Given the description of an element on the screen output the (x, y) to click on. 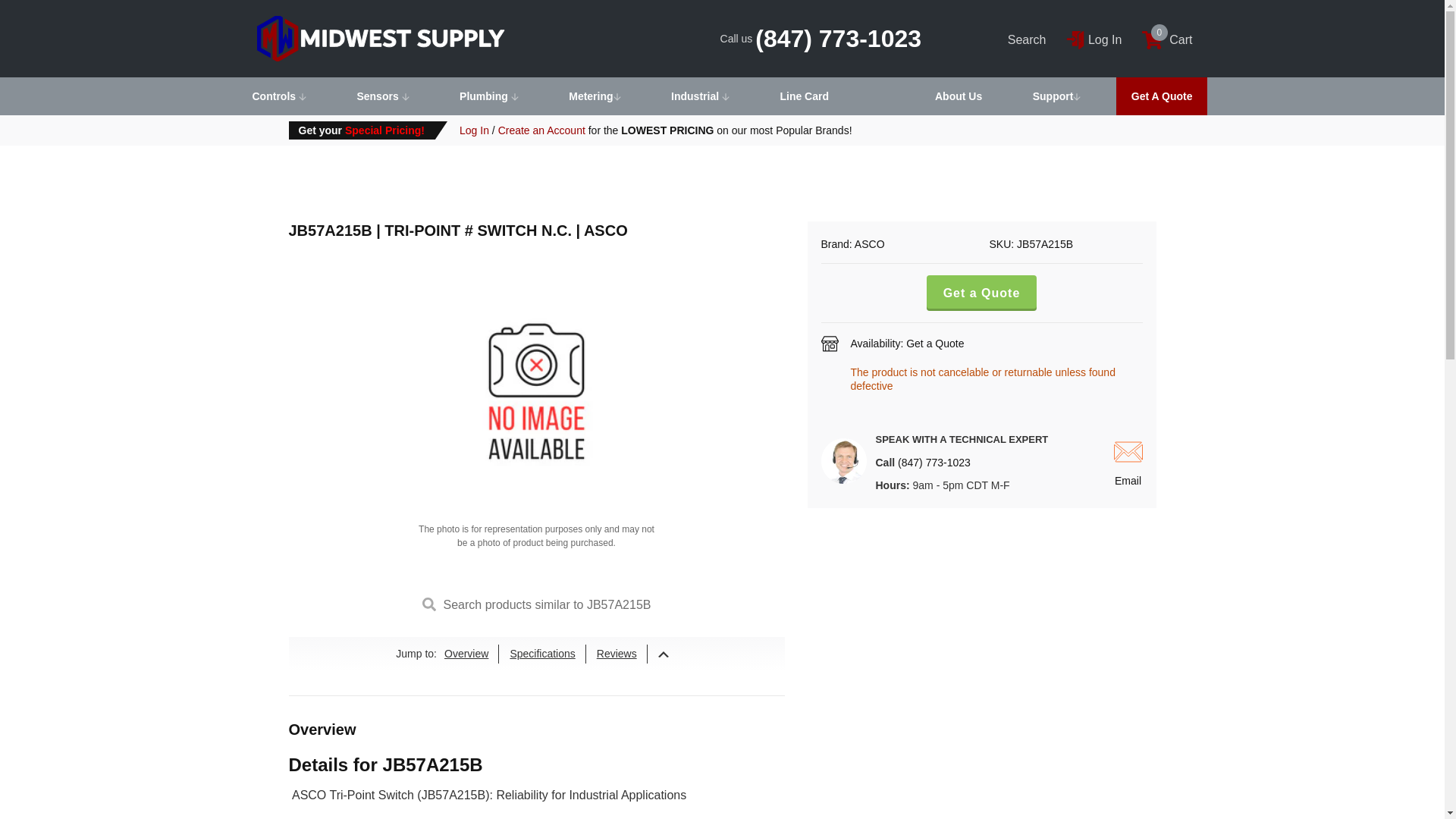
Controls (277, 95)
Log In (1166, 39)
Midwest Supply (1093, 39)
